Given the description of an element on the screen output the (x, y) to click on. 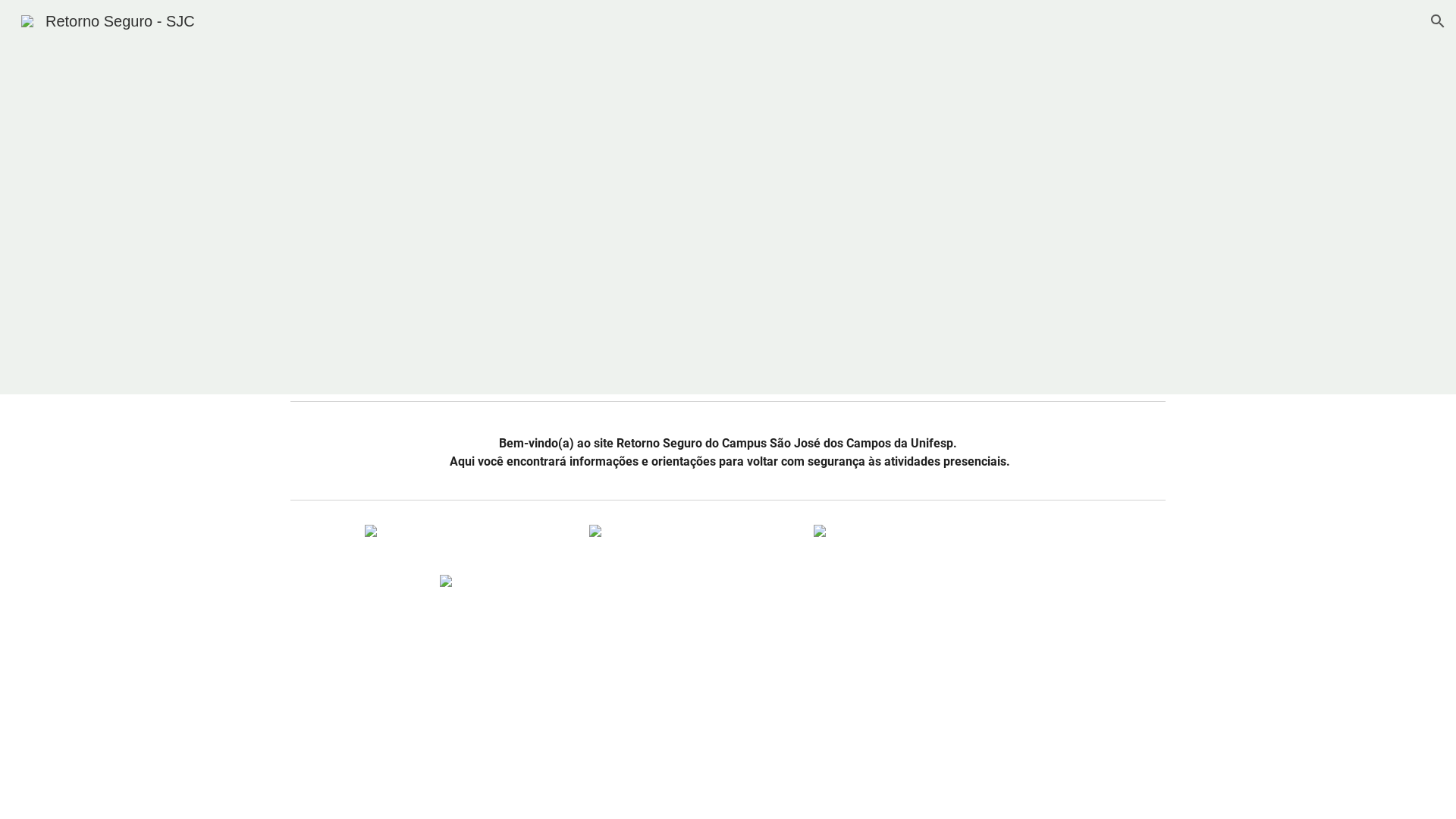
Retorno Seguro - SJC Element type: text (107, 19)
